Given the description of an element on the screen output the (x, y) to click on. 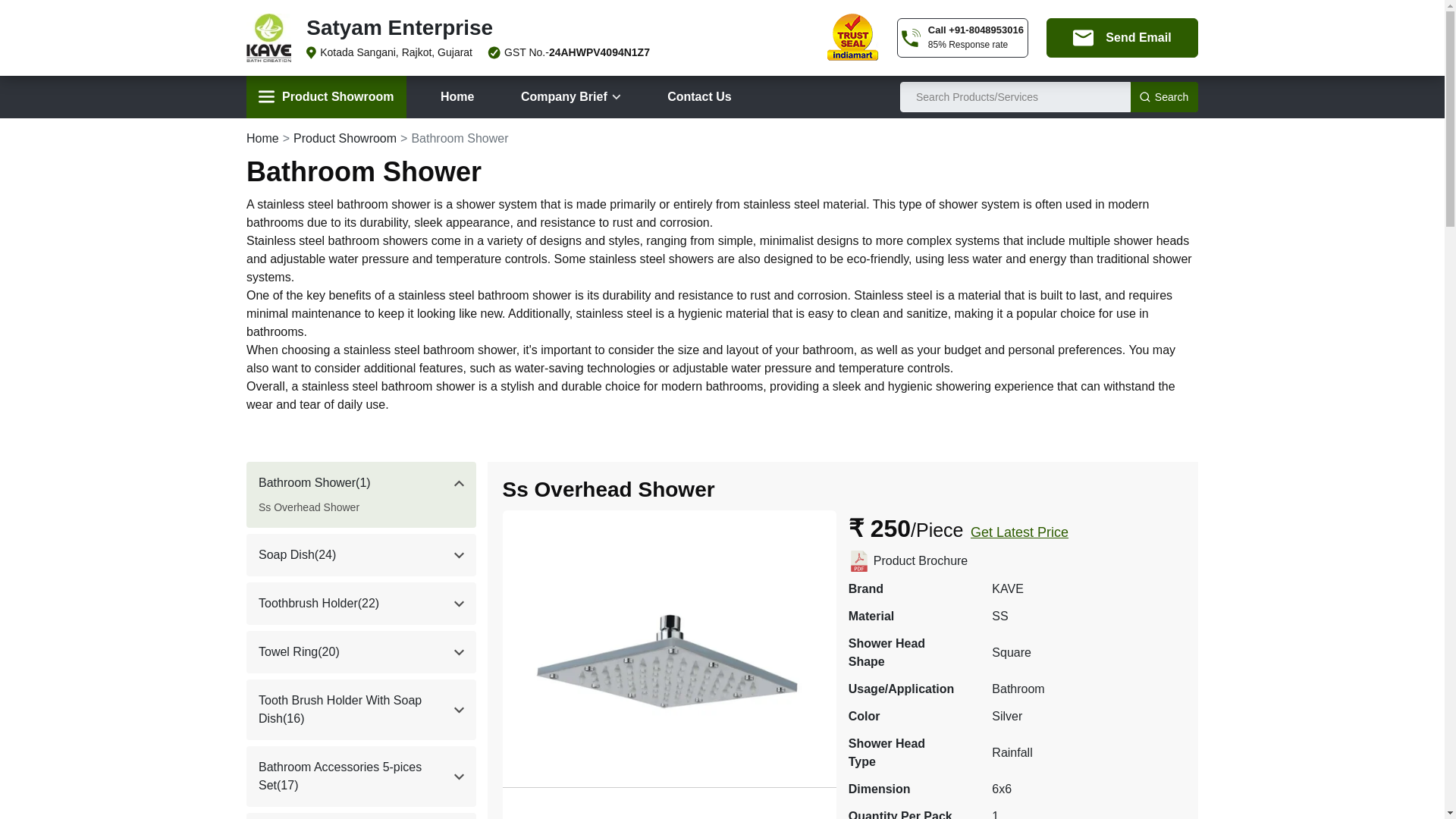
Home (457, 96)
Company Brief (570, 96)
Send Email (1122, 37)
Product Showroom (326, 96)
